Given the description of an element on the screen output the (x, y) to click on. 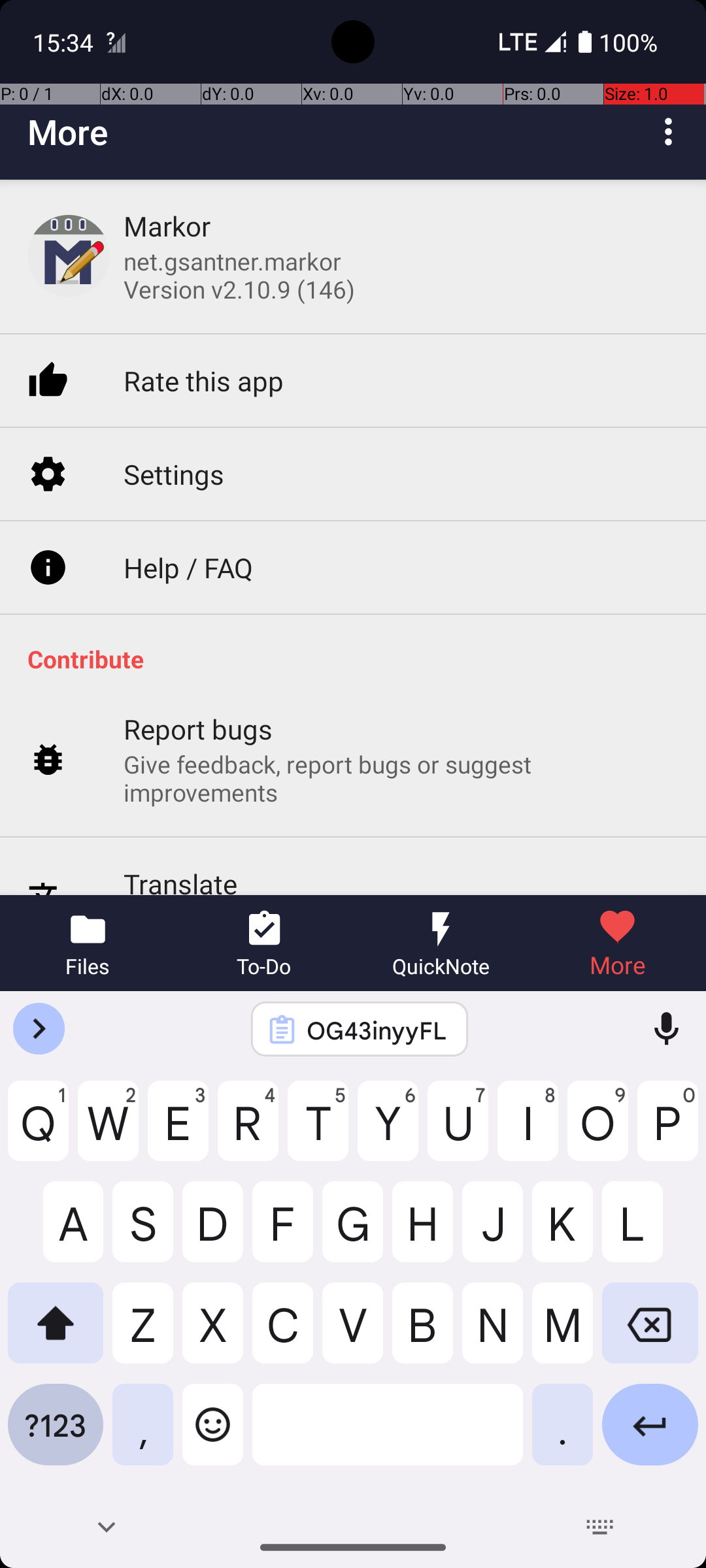
OG43inyyFL Element type: android.widget.TextView (376, 1029)
